Given the description of an element on the screen output the (x, y) to click on. 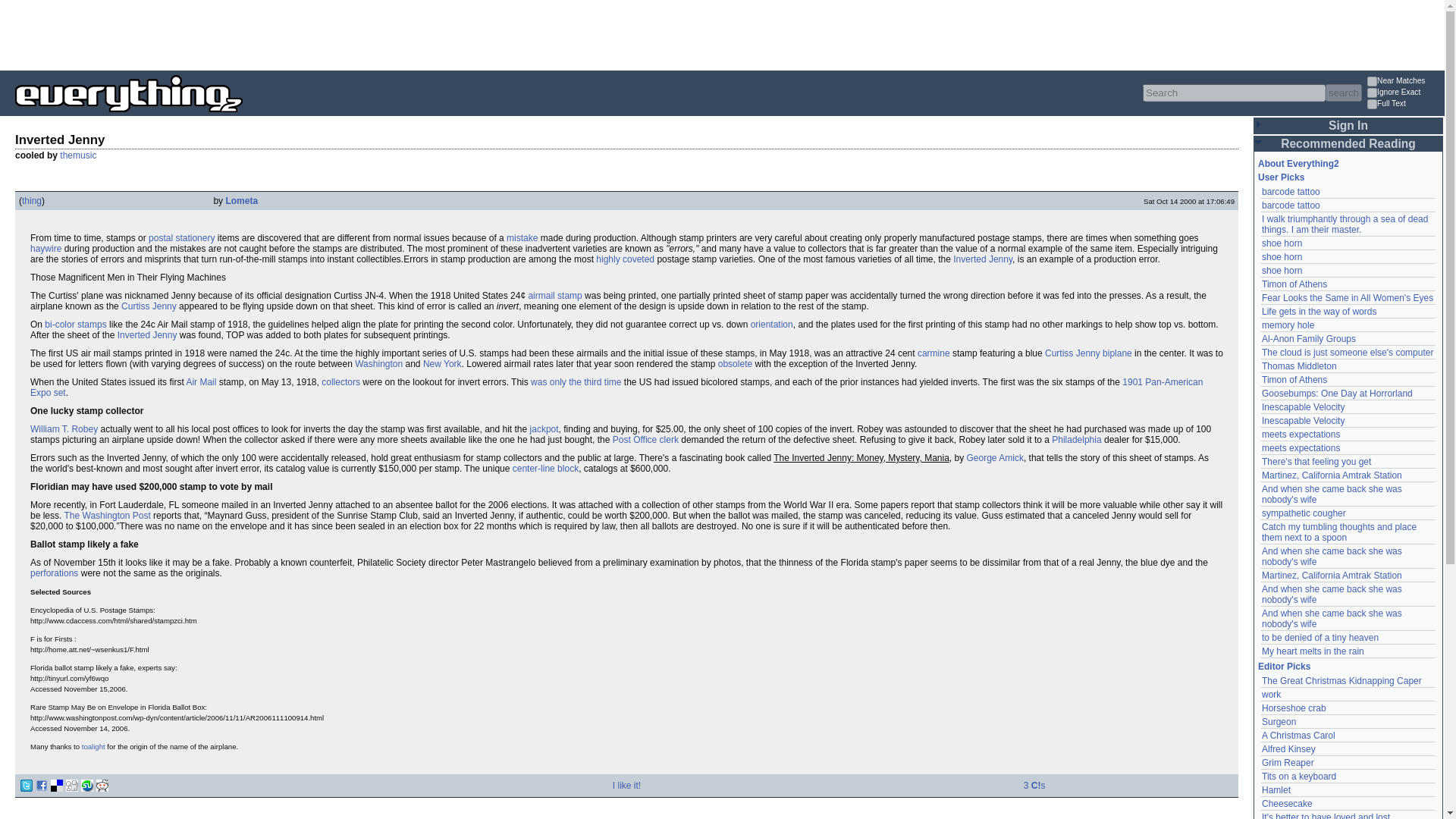
airmail stamp (553, 295)
Washington (379, 363)
1 (1372, 81)
New York (442, 363)
Inverted Jenny (147, 335)
The Washington Post (106, 515)
carmine (933, 353)
search (1342, 92)
airmail stamp (553, 295)
Lometa (241, 200)
